Given the description of an element on the screen output the (x, y) to click on. 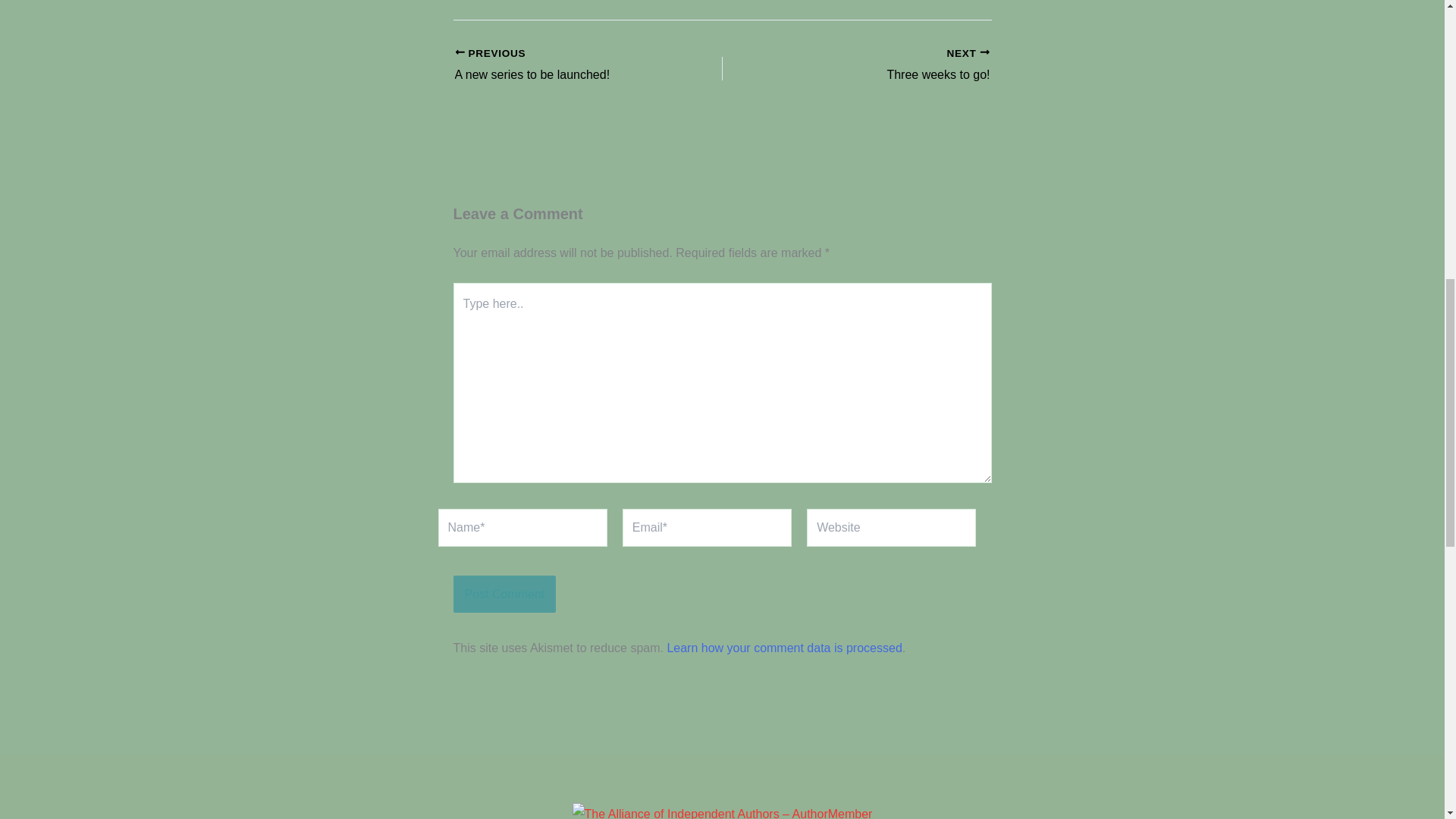
Post Comment (504, 594)
Three weeks to go! (882, 65)
A new series to be launched! (561, 65)
